Given the description of an element on the screen output the (x, y) to click on. 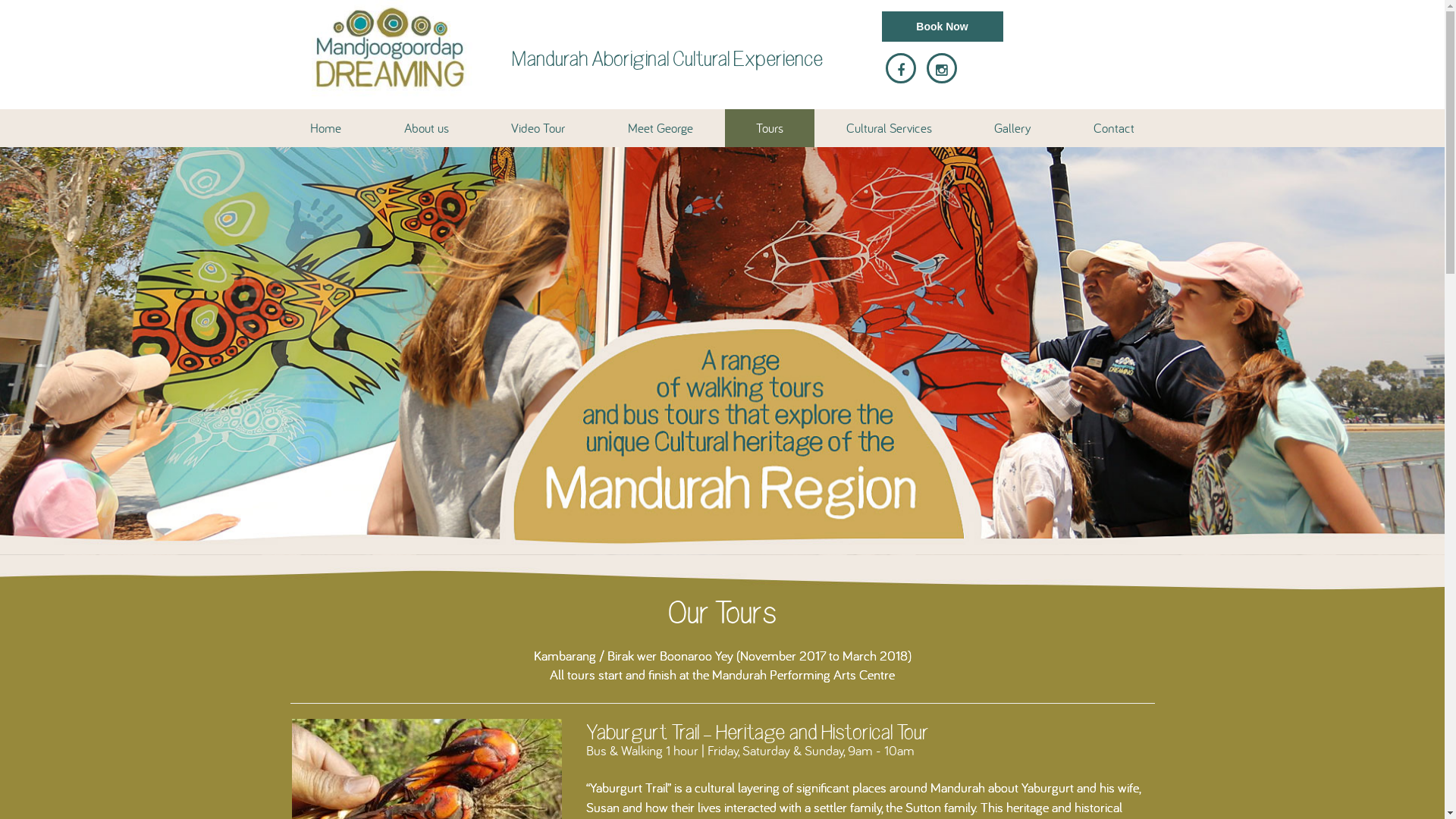
Gallery Element type: text (1012, 128)
About us Element type: text (426, 128)
Book Now Element type: text (941, 26)
Video Tour Element type: text (538, 128)
Tours Element type: text (769, 128)
Home Element type: text (326, 128)
Cultural Services Element type: text (888, 128)
Meet George Element type: text (660, 128)
Contact Element type: text (1114, 128)
